Given the description of an element on the screen output the (x, y) to click on. 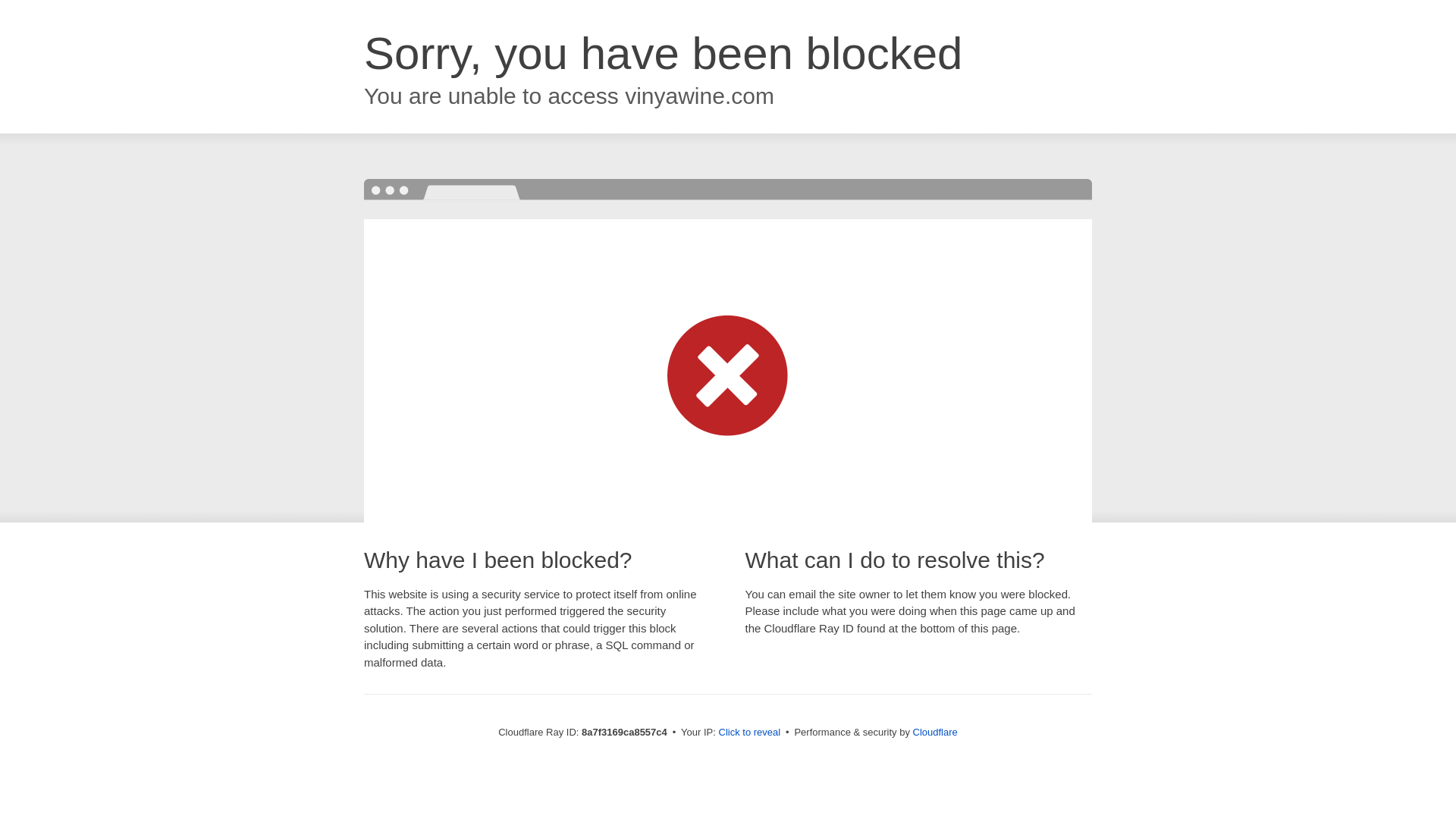
Cloudflare (935, 731)
Click to reveal (749, 732)
